Given the description of an element on the screen output the (x, y) to click on. 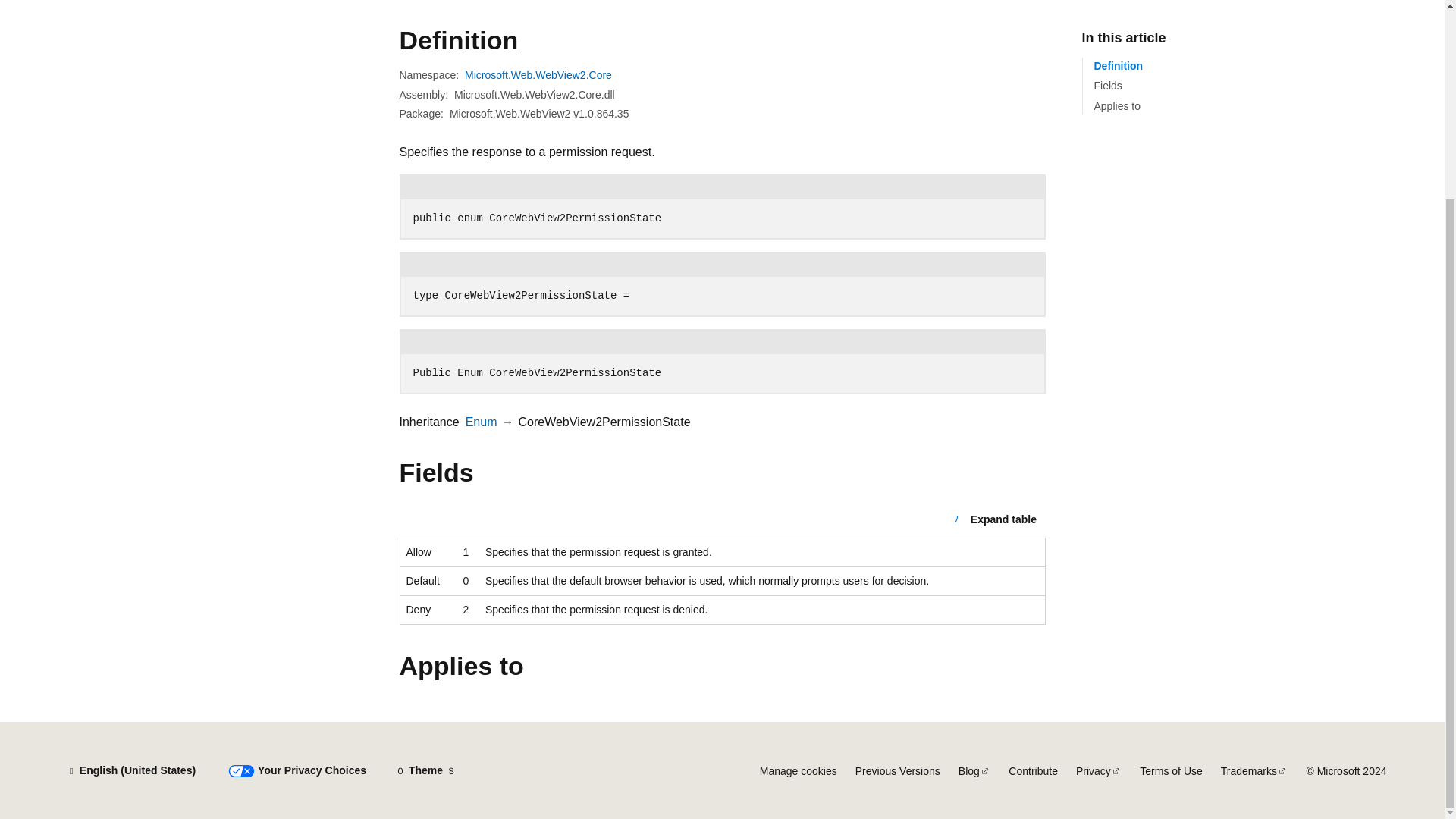
Enum (481, 421)
Expand table (994, 518)
Theme (425, 770)
Microsoft.Web.WebView2.Core (537, 74)
